Given the description of an element on the screen output the (x, y) to click on. 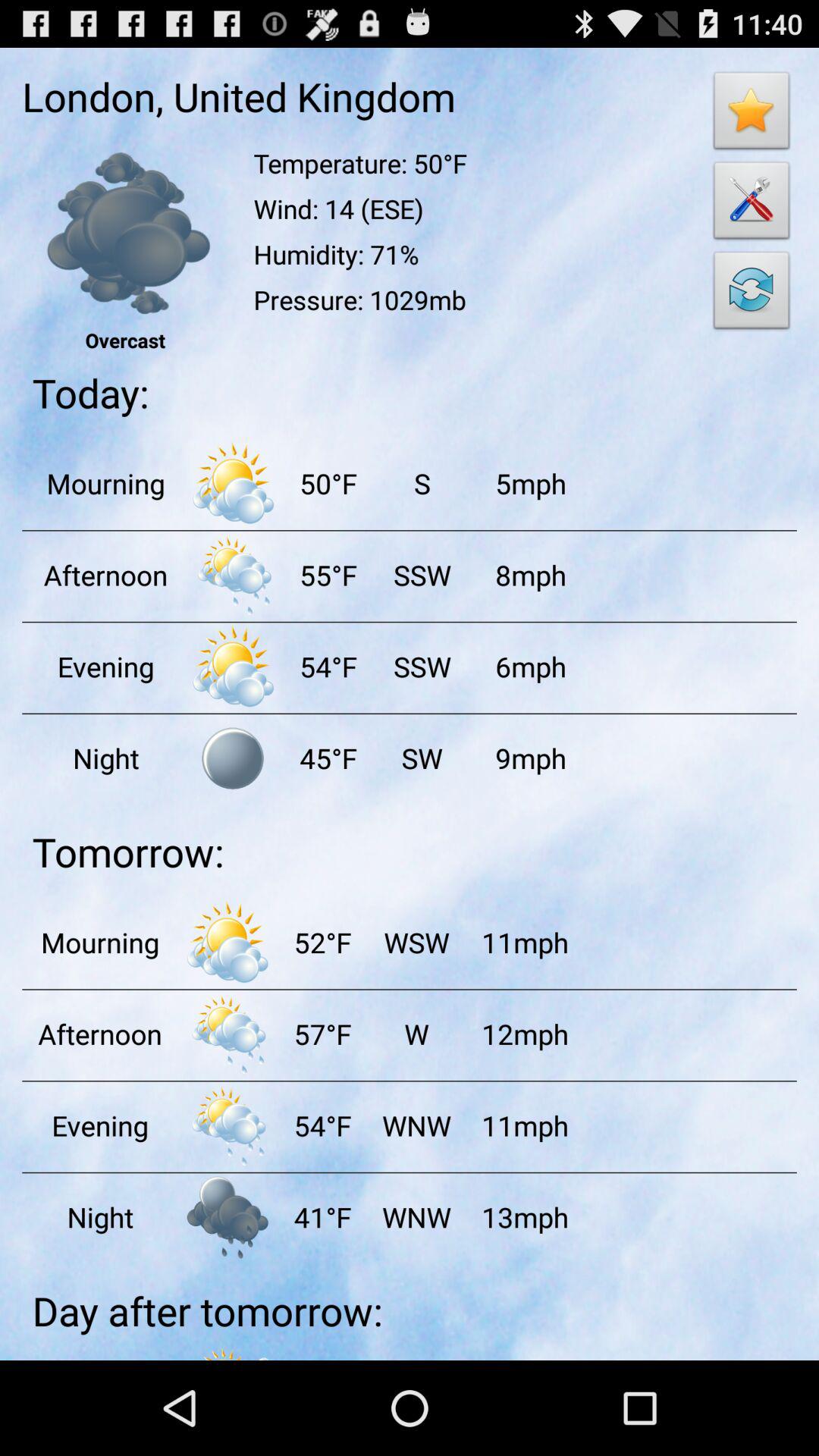
partly cloudly with some rain (227, 1033)
